Given the description of an element on the screen output the (x, y) to click on. 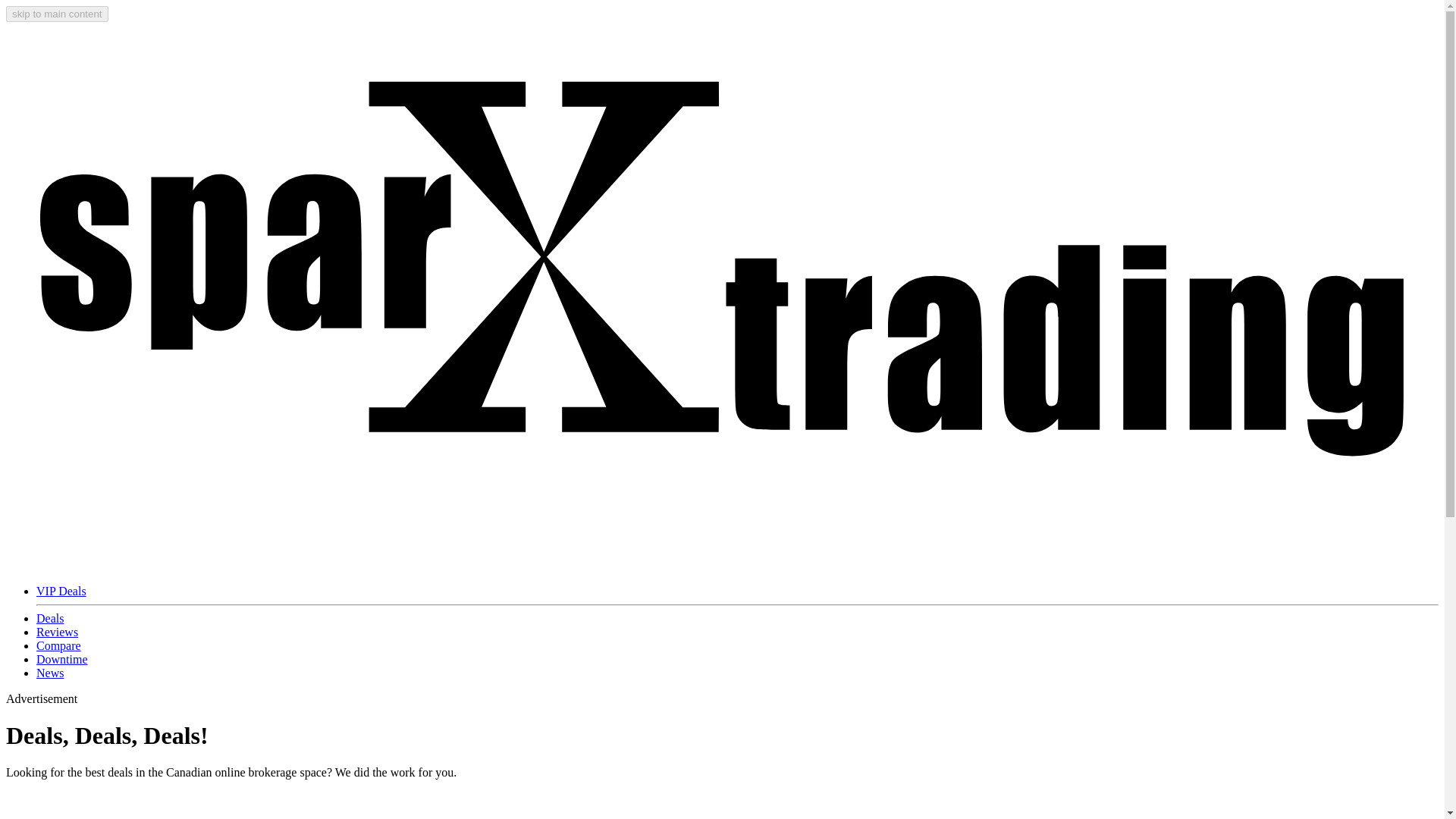
Compare (58, 645)
skip to main content (56, 13)
News (50, 672)
Reviews (57, 631)
Downtime (61, 658)
Deals (50, 617)
